Given the description of an element on the screen output the (x, y) to click on. 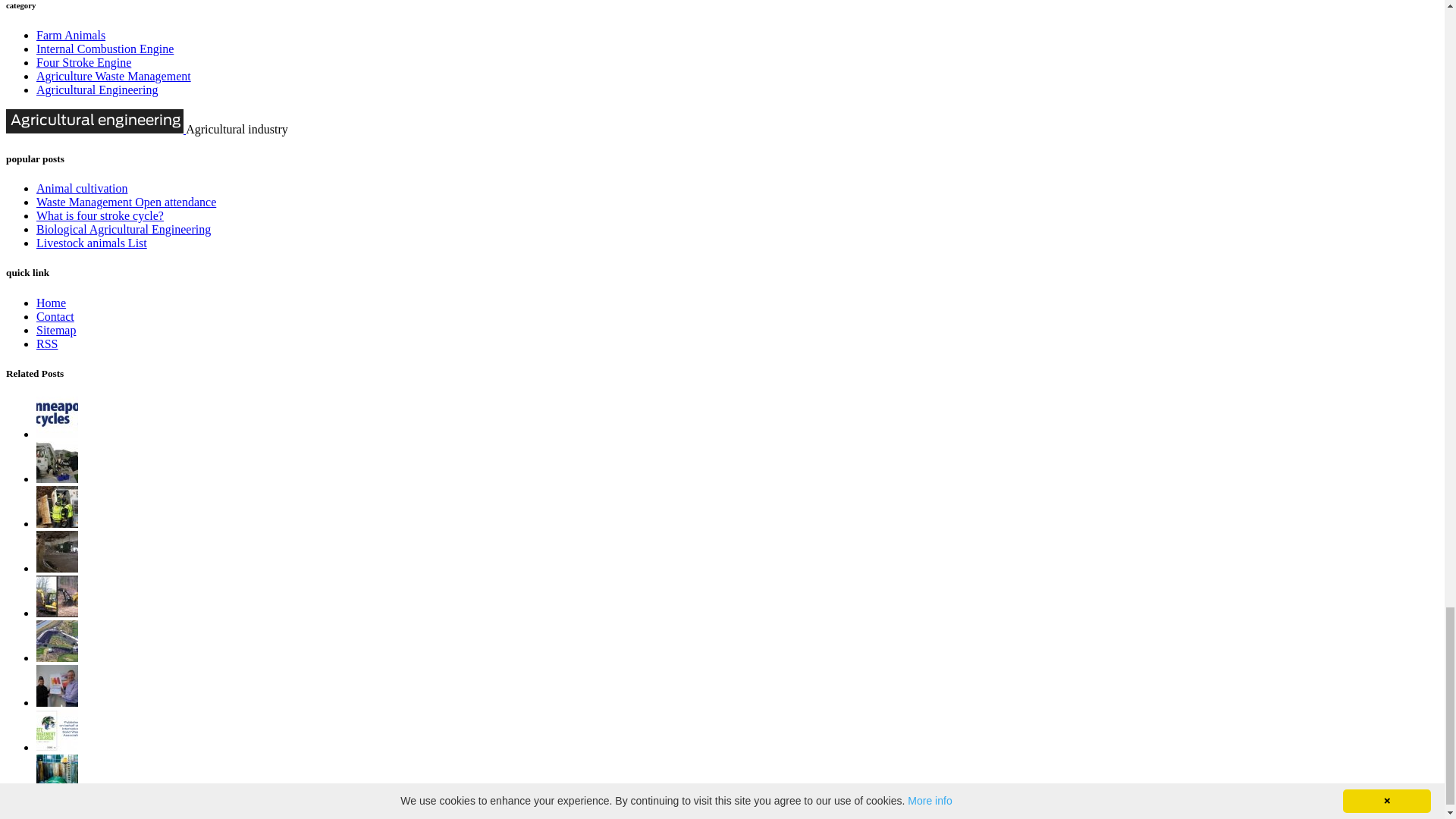
Waste Management Open attendance (125, 201)
View all posts filed under Agricultural Engineering (96, 89)
Animal cultivation (82, 187)
View all posts filed under Internal Combustion Engine (104, 48)
View all posts filed under Agriculture Waste Management (113, 75)
What is four stroke cycle? (99, 215)
View all posts filed under Farm Animals (70, 34)
View all posts filed under Four Stroke Engine (83, 62)
Biological Agricultural Engineering (123, 228)
